Given the description of an element on the screen output the (x, y) to click on. 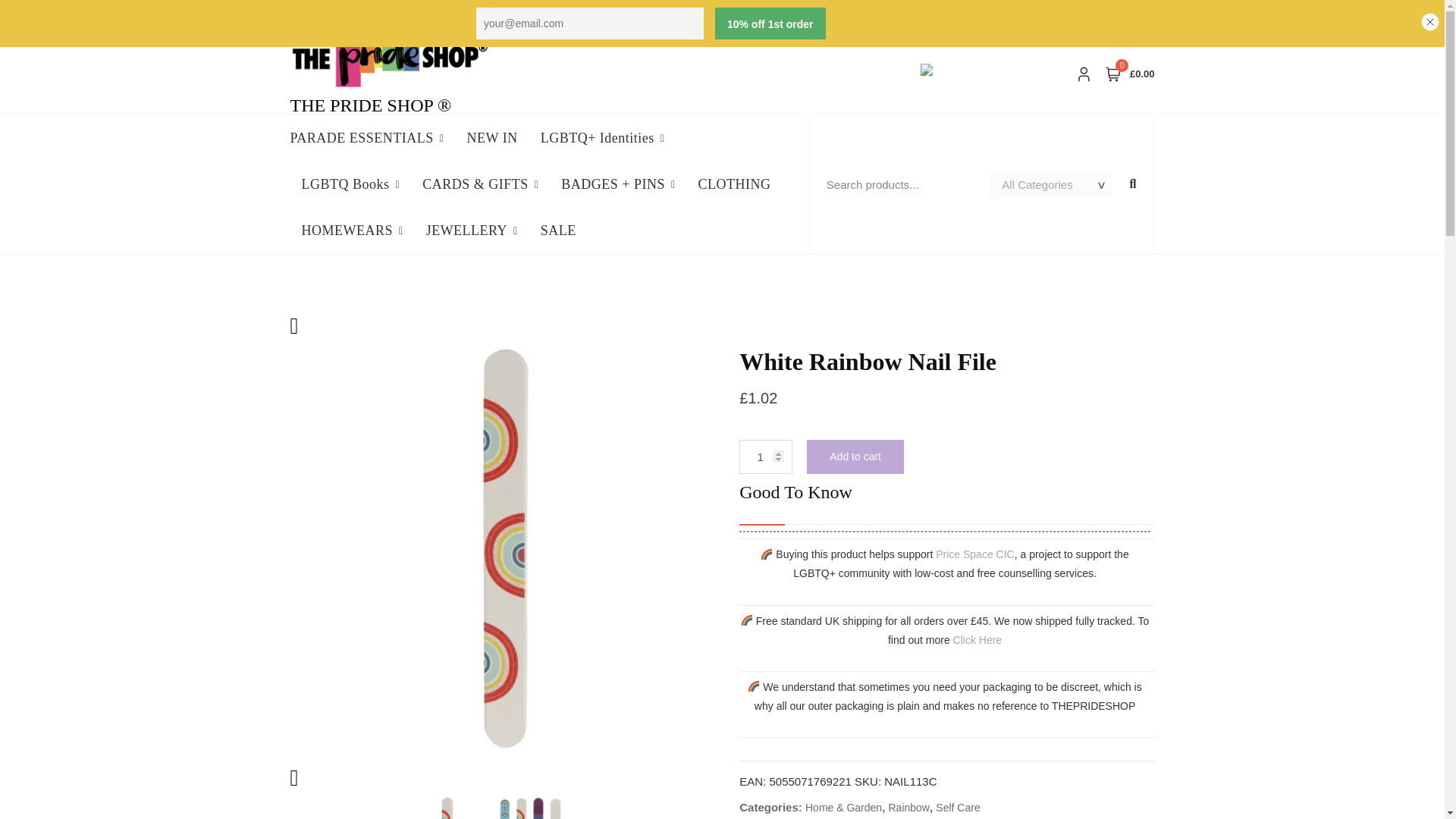
PARADE ESSENTIALS (371, 138)
FREE SHIPPING (386, 15)
REVIEWS (670, 15)
NEW IN (491, 138)
PRICE MATCH (604, 15)
1 (765, 456)
SHIPPING (315, 15)
